Given the description of an element on the screen output the (x, y) to click on. 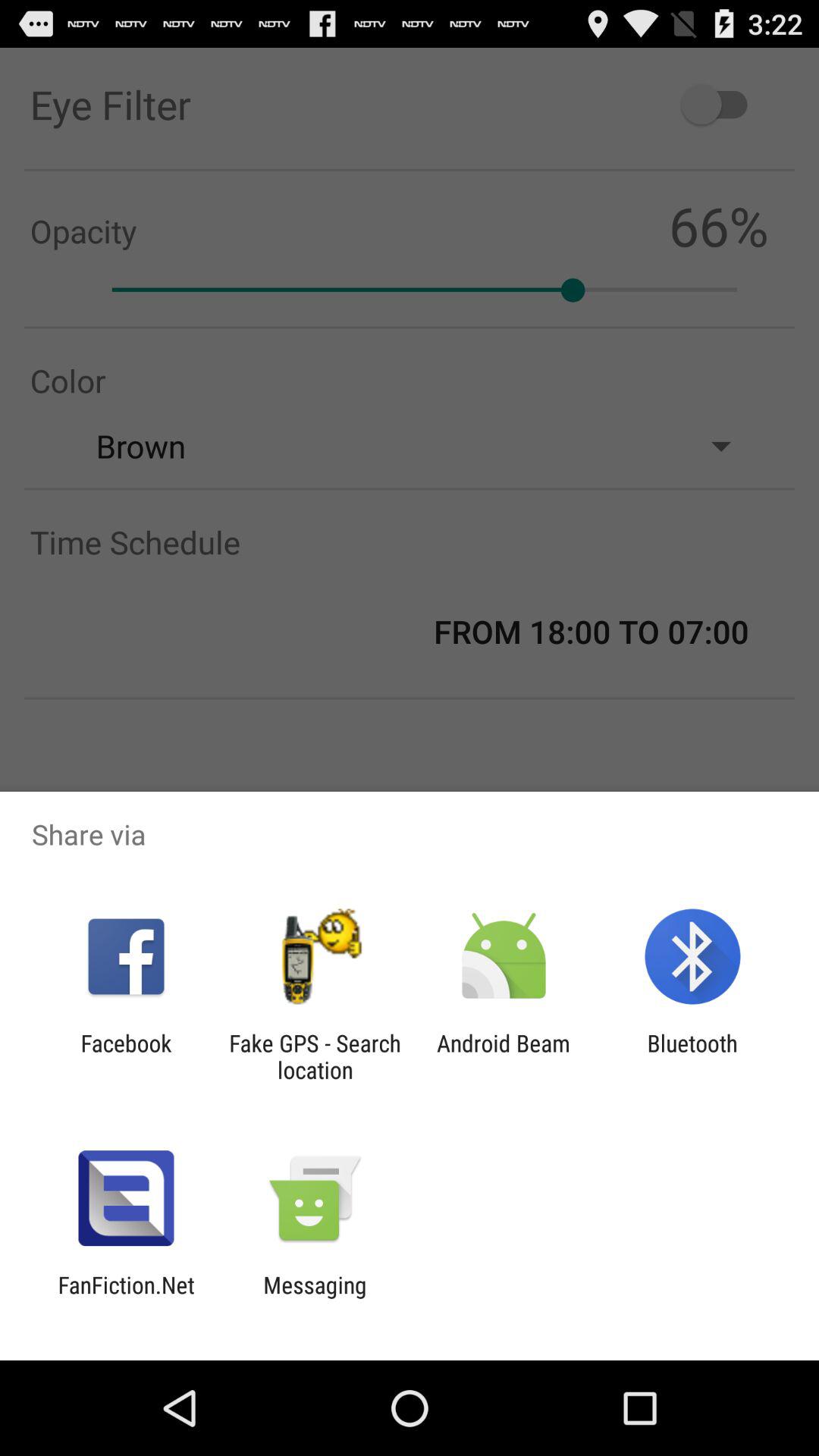
click the item to the left of the fake gps search app (125, 1056)
